Given the description of an element on the screen output the (x, y) to click on. 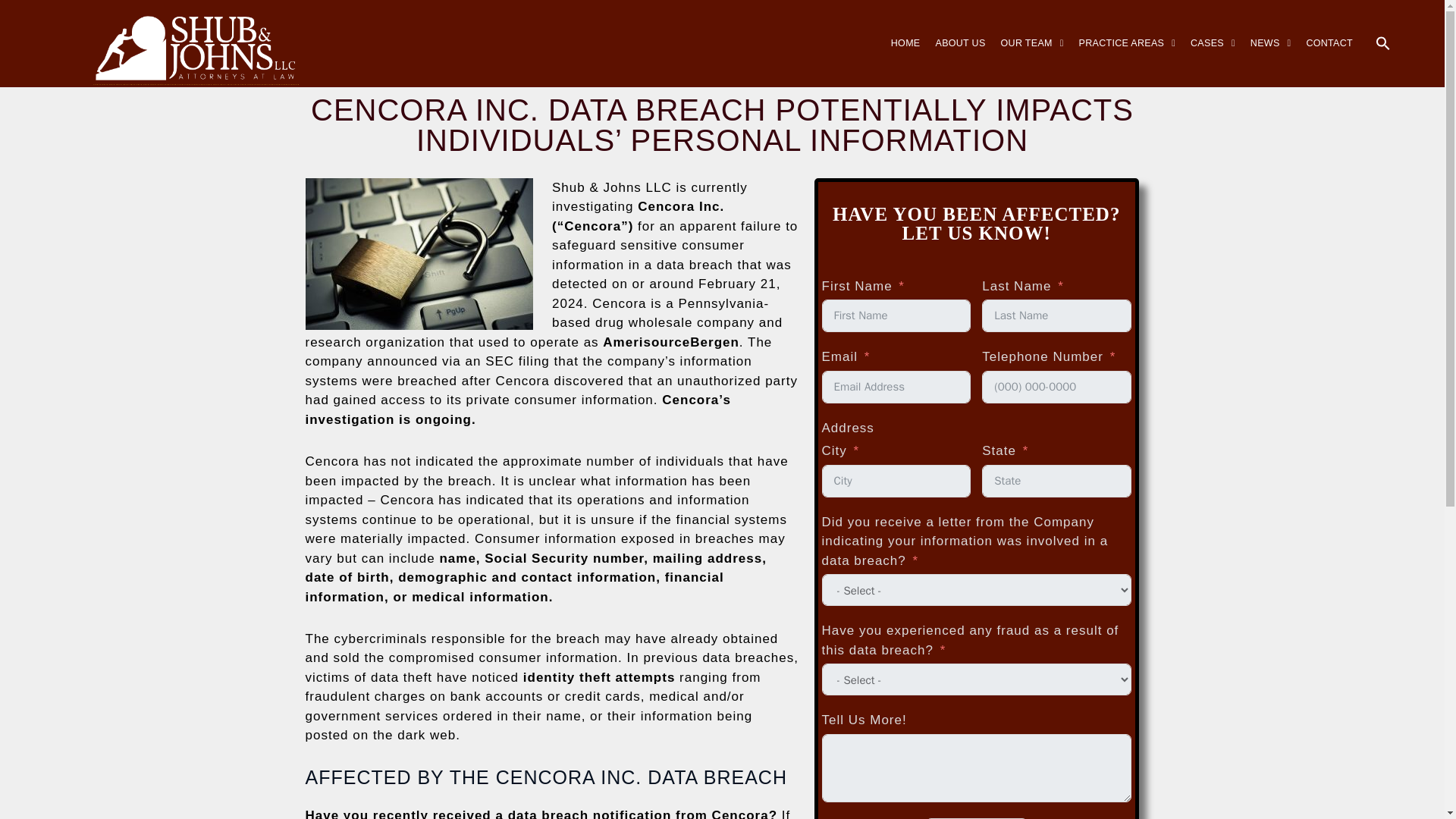
PRACTICE AREAS (1126, 15)
CONTACT (1328, 40)
NEWS (1270, 37)
OUR TEAM (1031, 2)
CASES (1212, 32)
ABOUT US (960, 0)
